Given the description of an element on the screen output the (x, y) to click on. 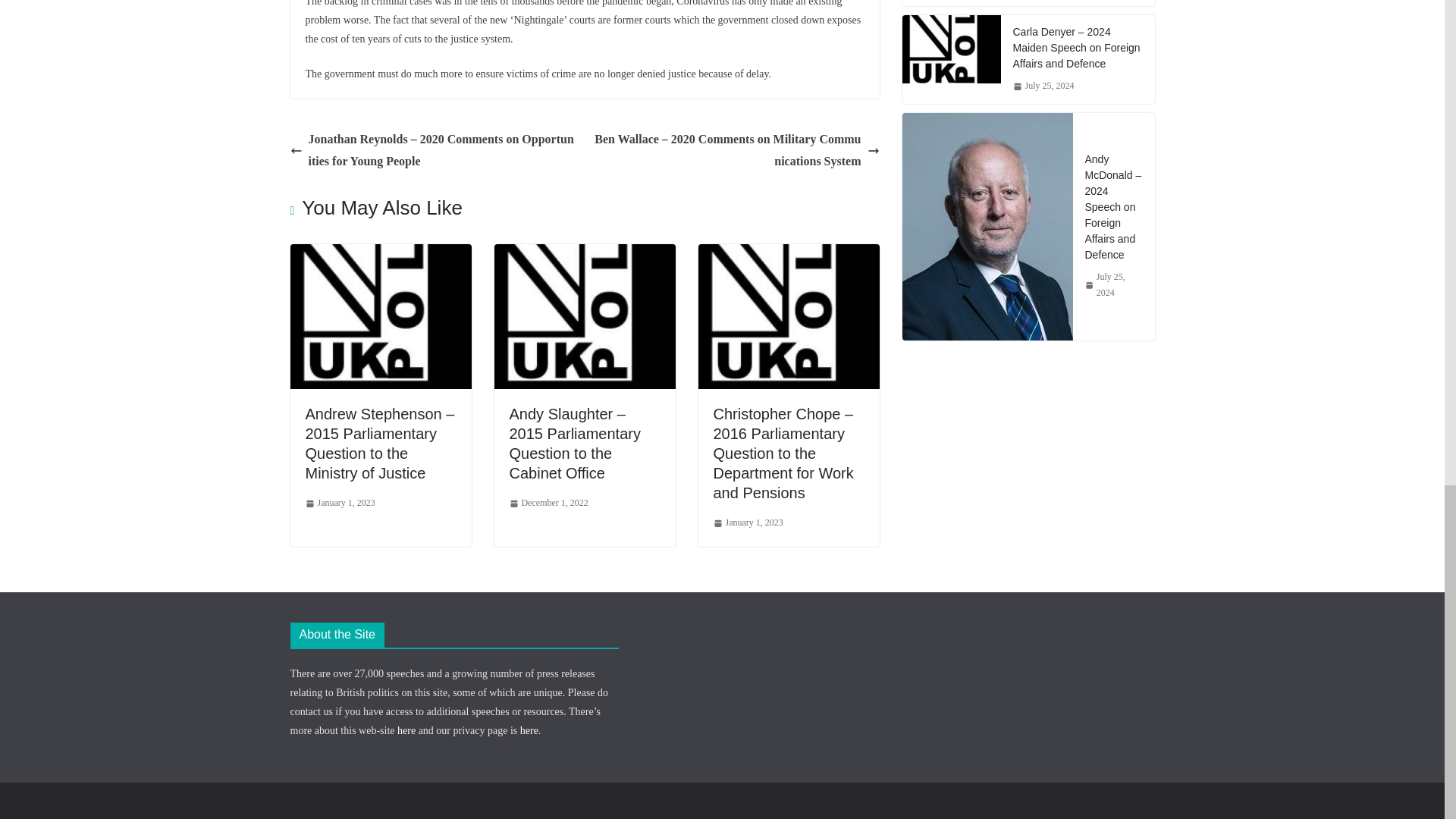
12:00 am (339, 503)
